Given the description of an element on the screen output the (x, y) to click on. 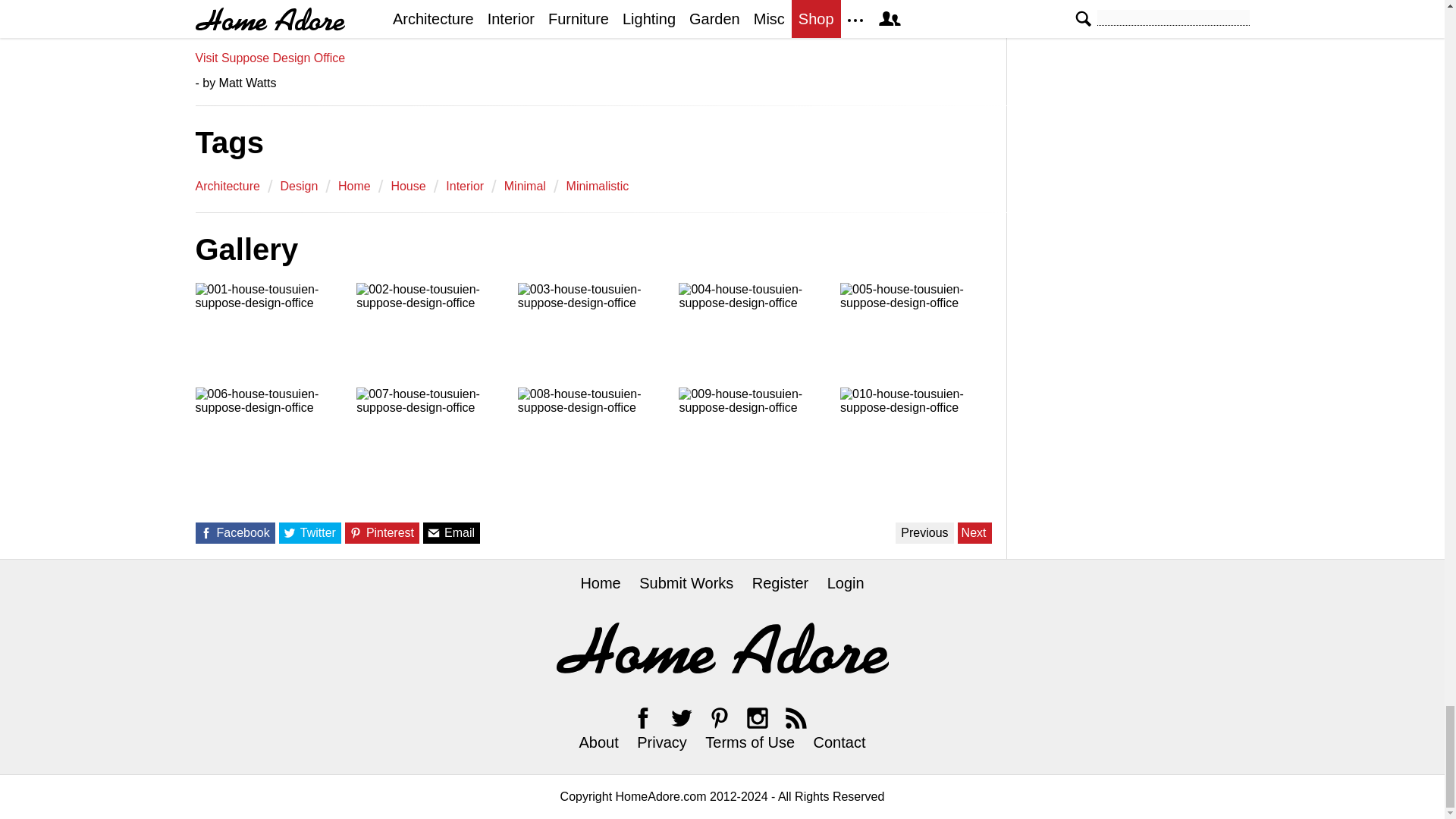
Facebook (643, 718)
Share with a Friend (433, 532)
home (354, 186)
Share on Facebook (205, 532)
minimal (524, 186)
architecture (227, 186)
Share on Pinterest (355, 532)
Twitter (681, 718)
minimalistic (597, 186)
Share on Twitter (289, 532)
HomeAdore (722, 648)
interior (464, 186)
house (407, 186)
design (299, 186)
